Given the description of an element on the screen output the (x, y) to click on. 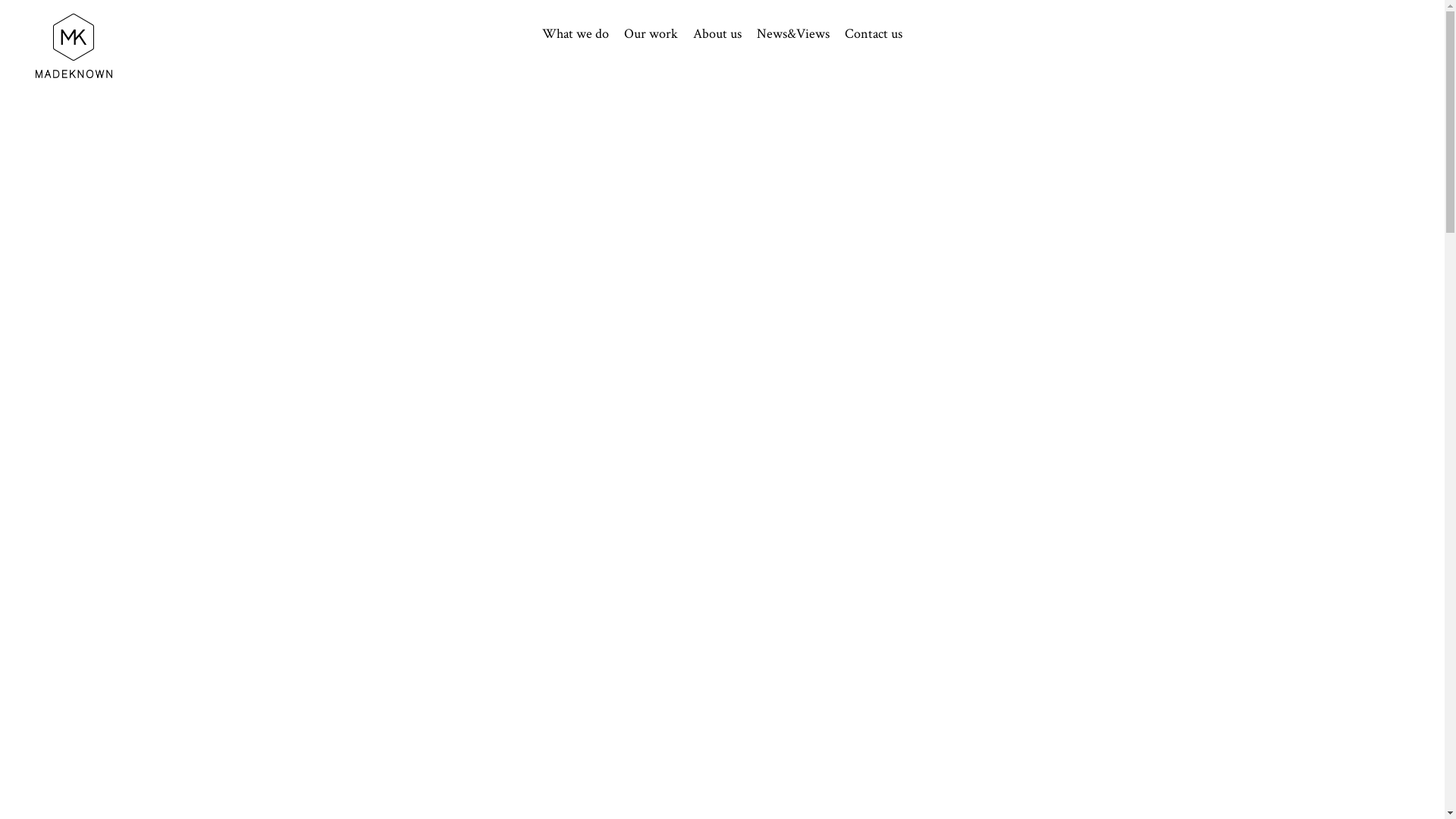
About us Element type: text (717, 33)
What we do Element type: text (575, 33)
Our work Element type: text (650, 33)
Contact us Element type: text (873, 33)
News&Views Element type: text (792, 33)
